Given the description of an element on the screen output the (x, y) to click on. 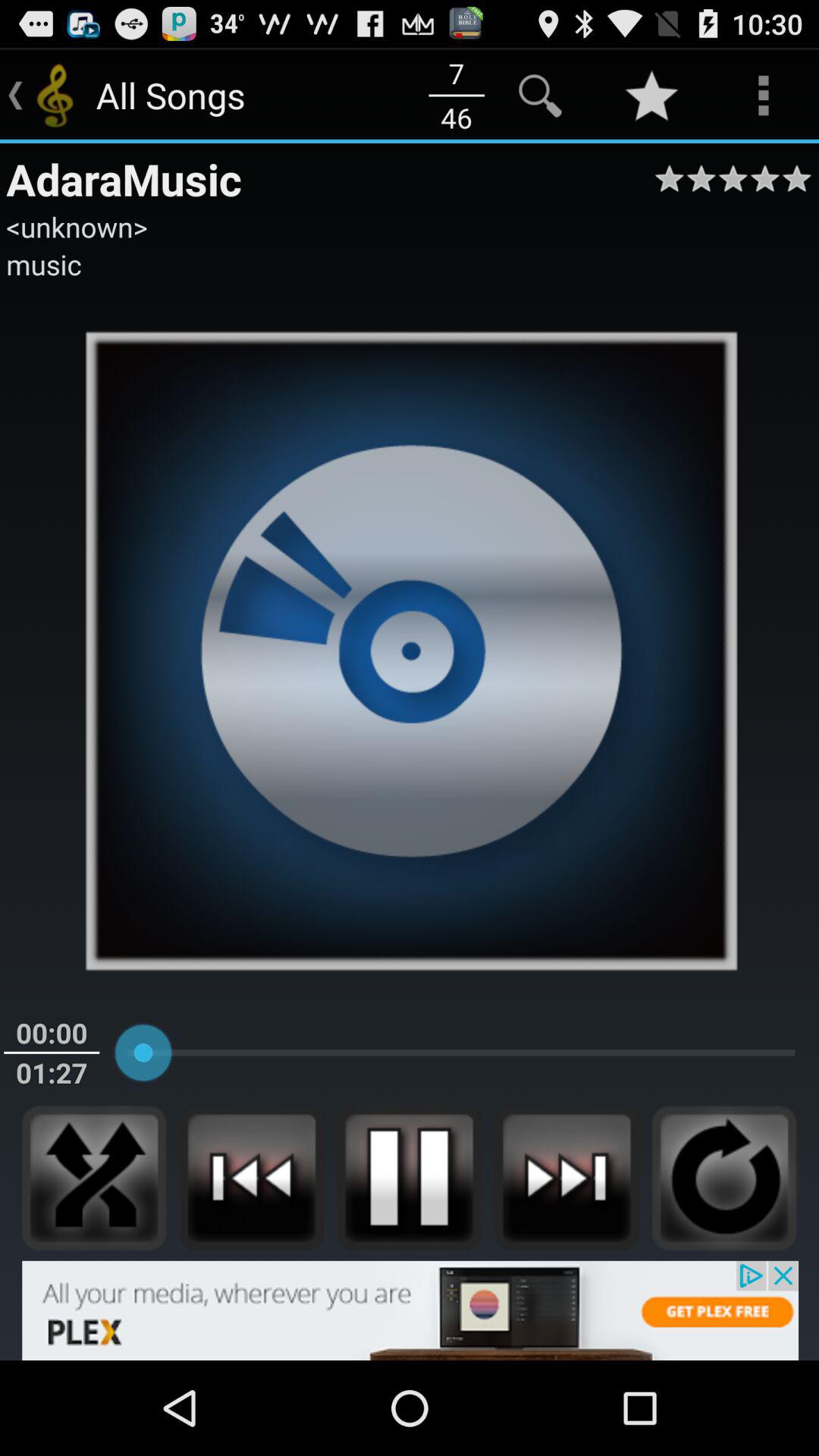
shuffle button (93, 1177)
